Given the description of an element on the screen output the (x, y) to click on. 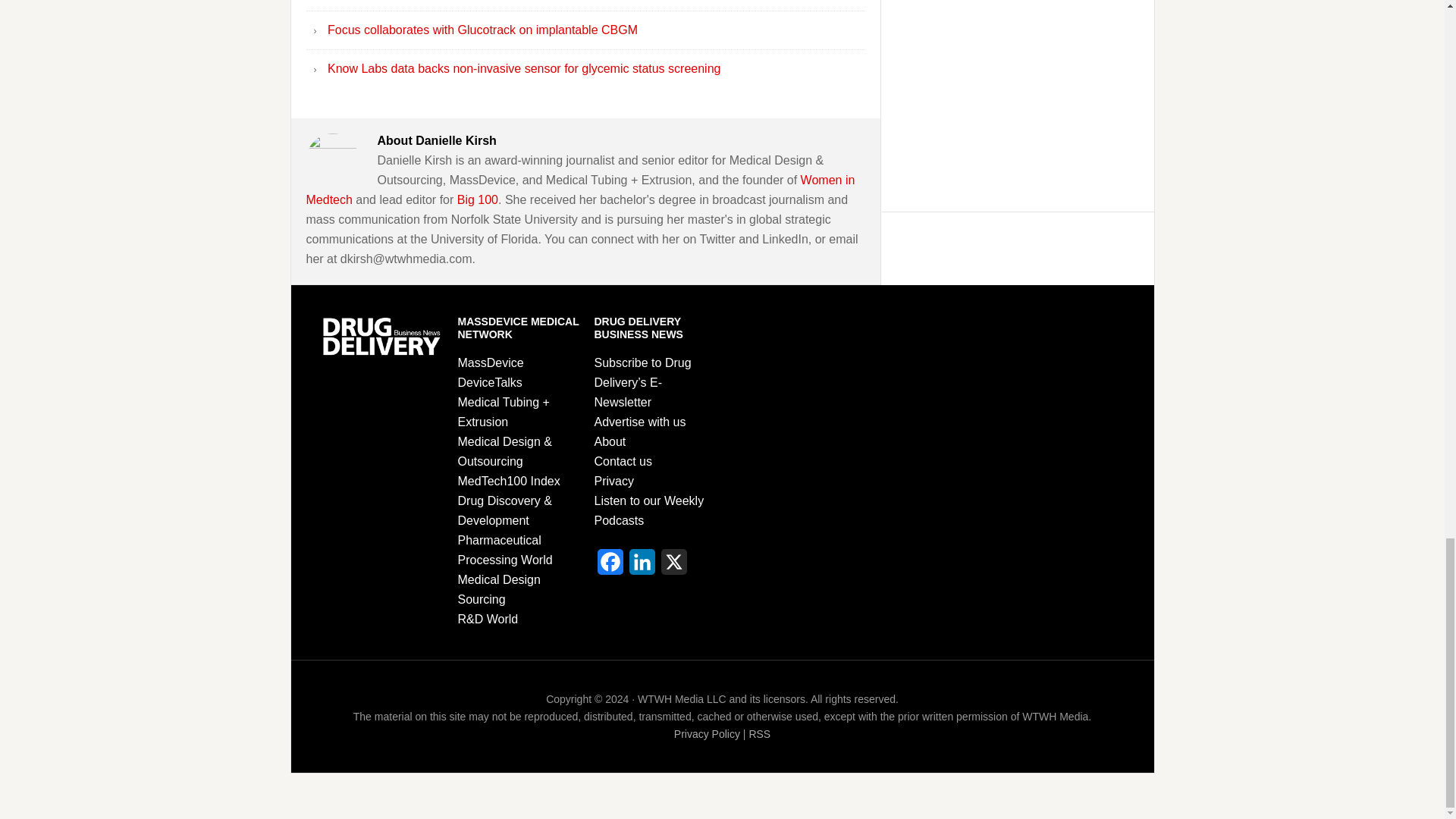
Women in Medtech (580, 189)
X (674, 565)
Facebook (610, 565)
Big 100 (477, 199)
Focus collaborates with Glucotrack on implantable CBGM (482, 29)
3rd party ad content (1017, 98)
LinkedIn Company (642, 565)
